Given the description of an element on the screen output the (x, y) to click on. 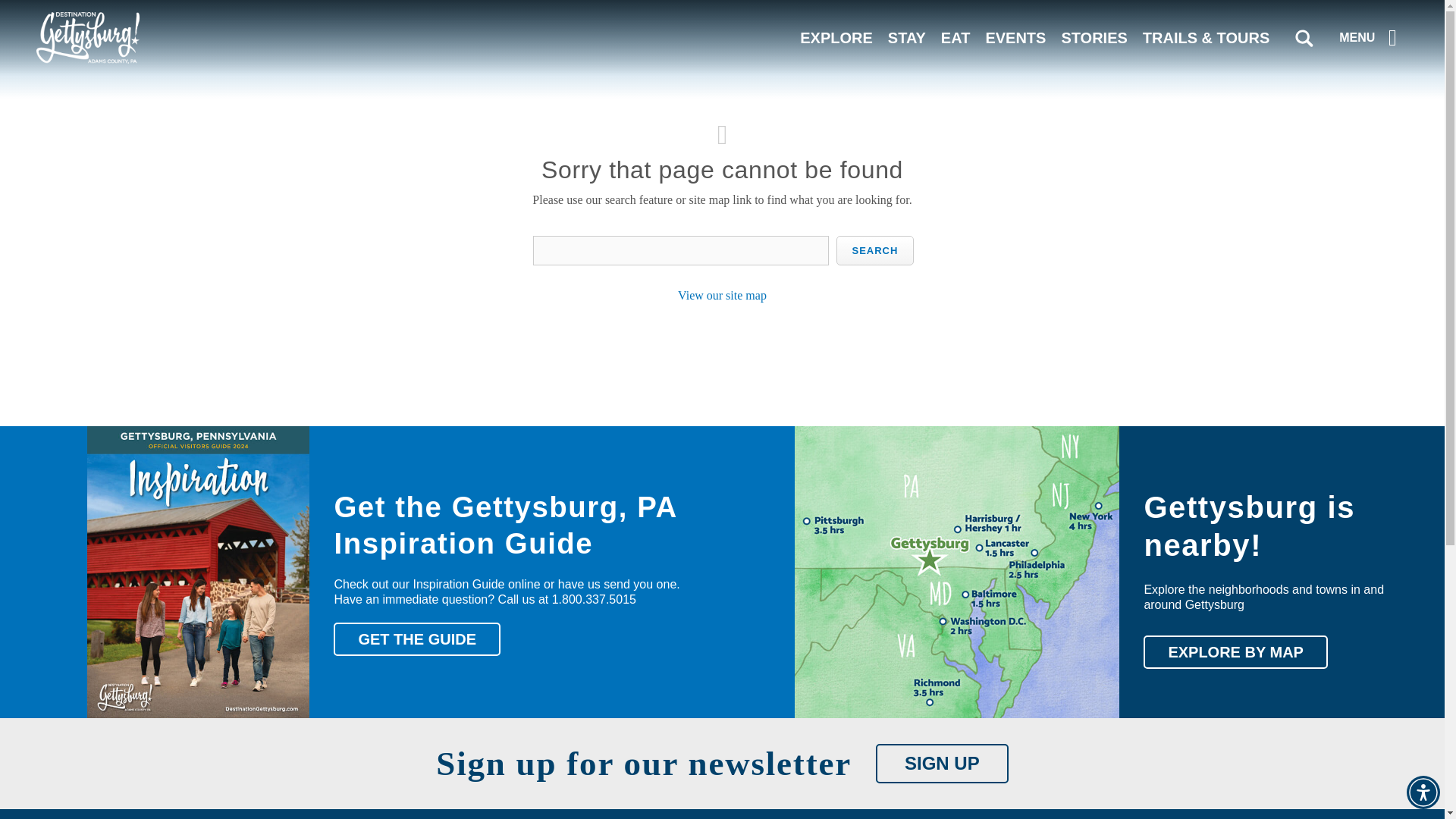
MENU (1371, 37)
EAT (955, 37)
Accessibility Menu (1422, 792)
EVENTS (1015, 37)
EXPLORE (835, 37)
STAY (907, 37)
STORIES (1093, 37)
